Given the description of an element on the screen output the (x, y) to click on. 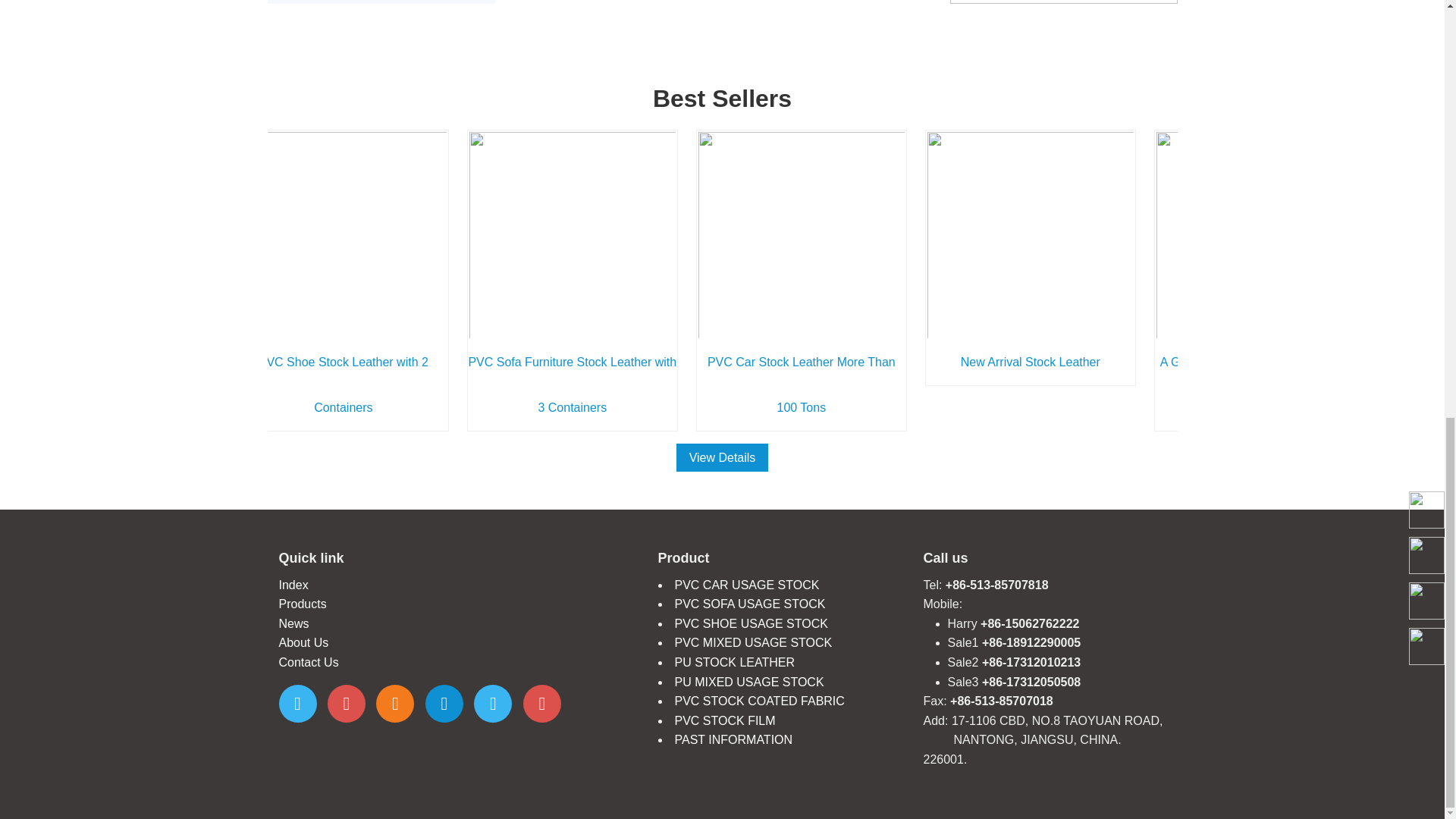
New Arrival Stock Leather (1030, 361)
PVC Sofa Furniture Stock Leather with 3 Containers (572, 384)
PVC Car Stock Leather More Than 100 Tons (801, 384)
PVC Shoe Stock Leather with 2 Containers (343, 384)
